Given the description of an element on the screen output the (x, y) to click on. 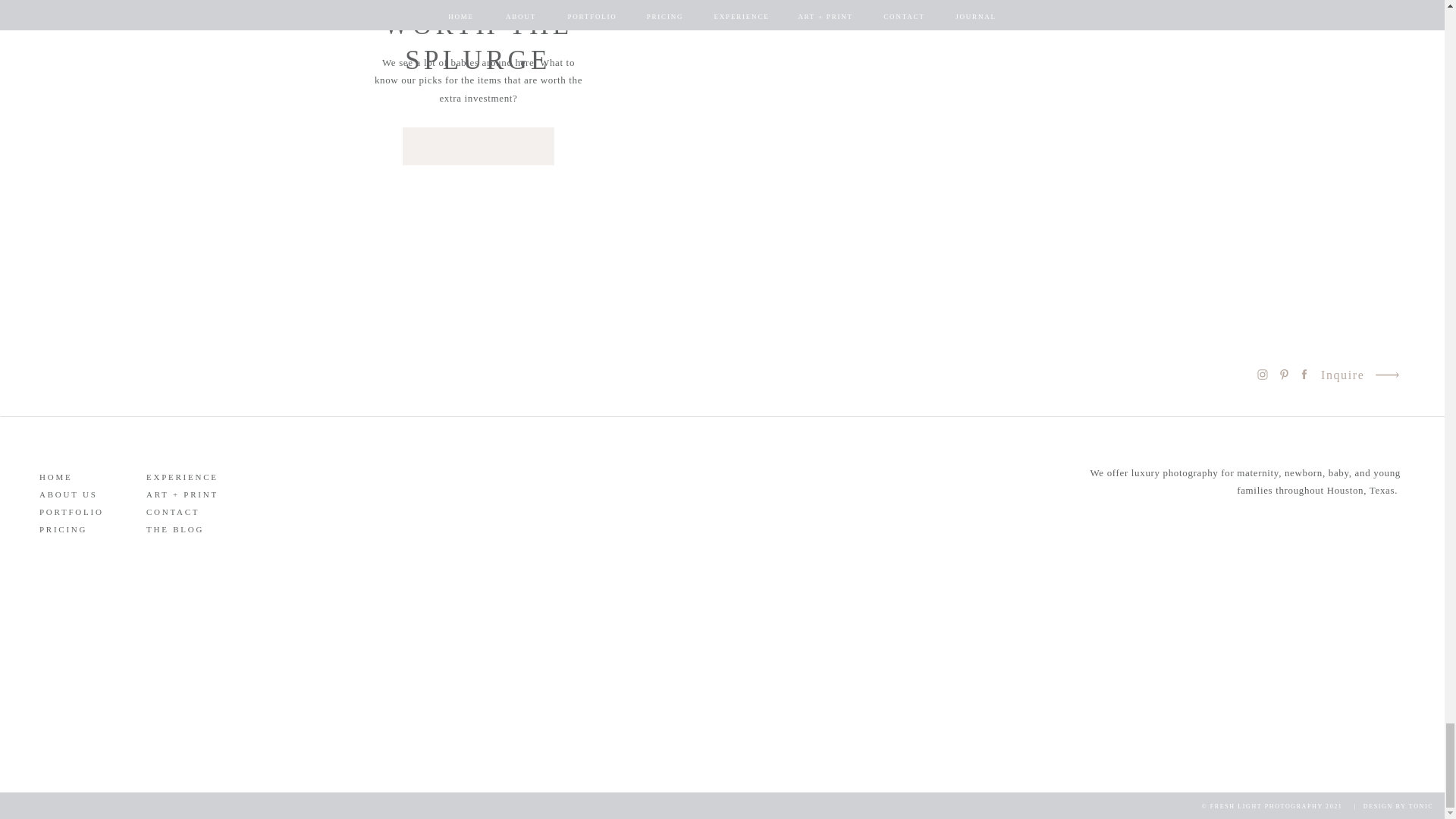
arrow (1386, 374)
